Given the description of an element on the screen output the (x, y) to click on. 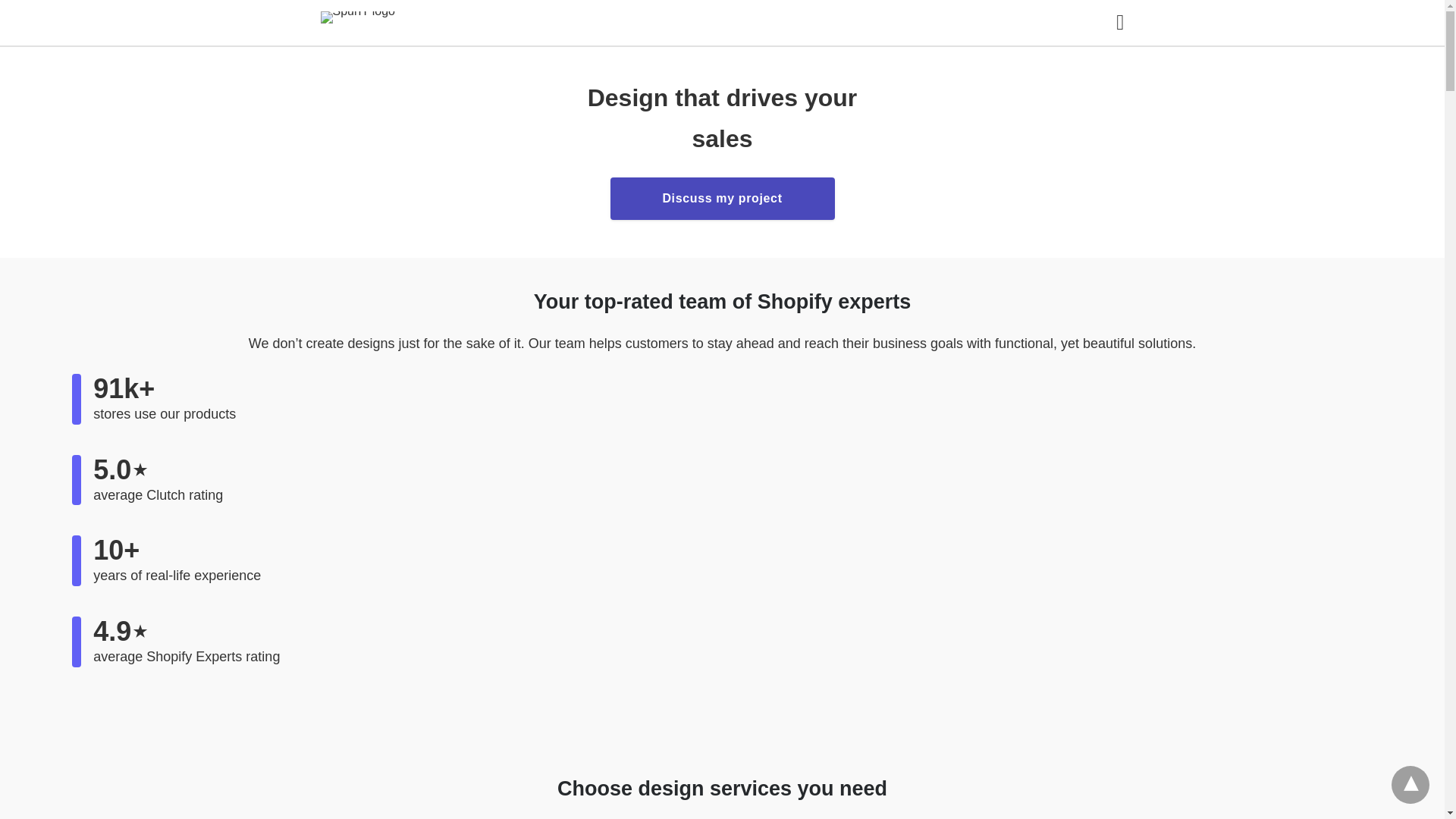
Discuss my project (722, 198)
SpurIT (369, 21)
back to top (1410, 784)
